Given the description of an element on the screen output the (x, y) to click on. 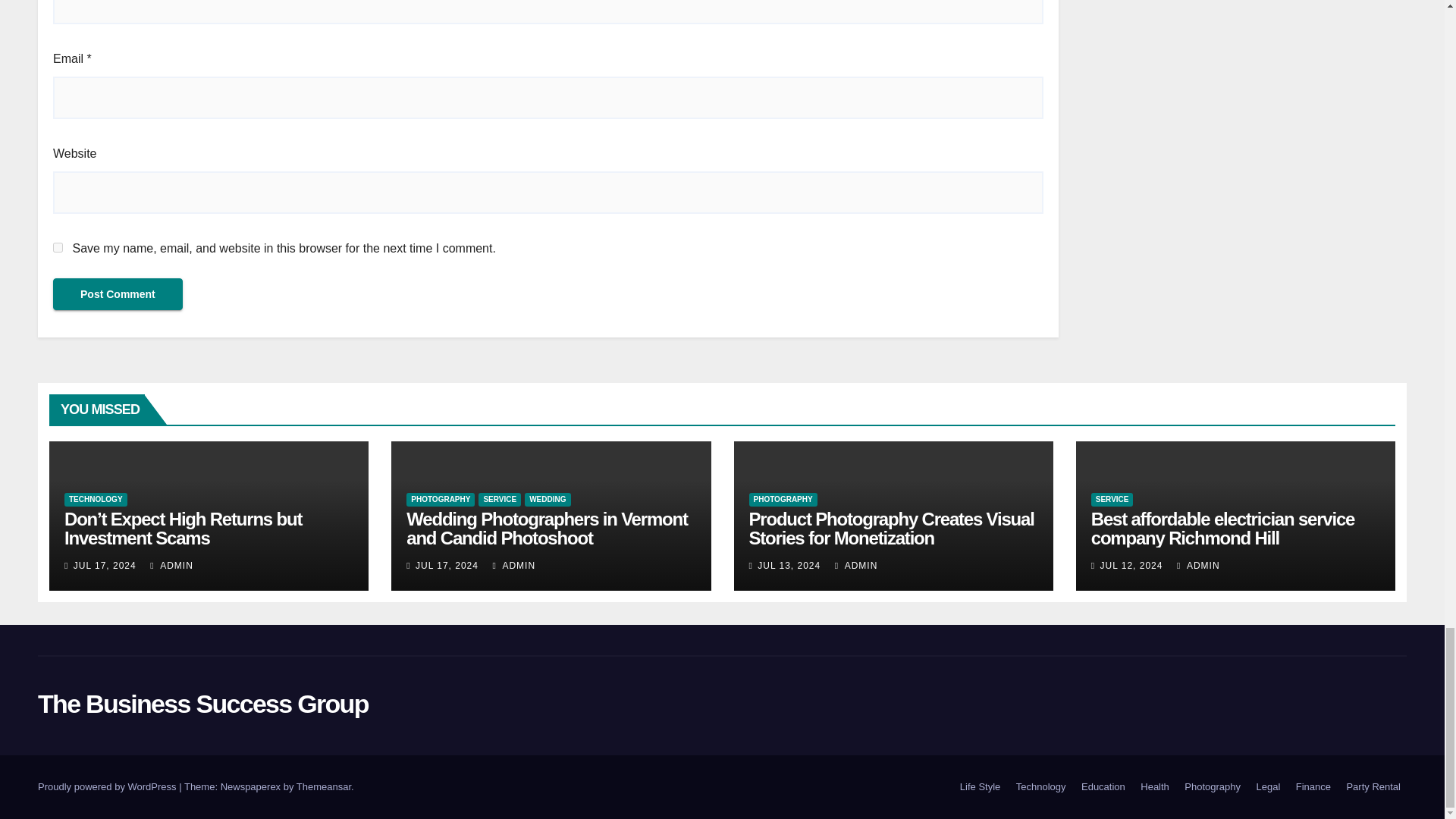
yes (57, 247)
Post Comment (117, 294)
